Given the description of an element on the screen output the (x, y) to click on. 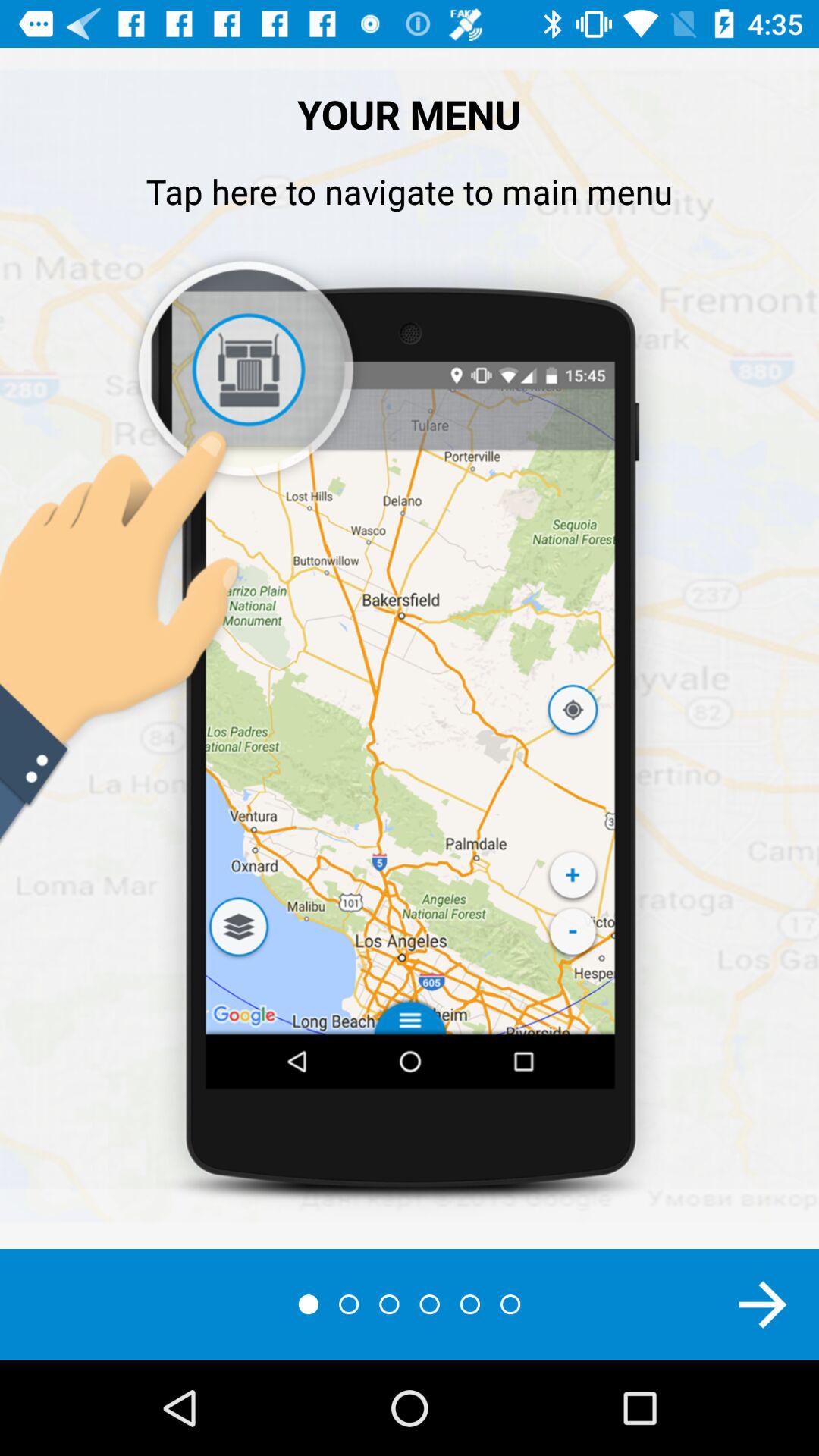
click the icon at the bottom right corner (763, 1304)
